Given the description of an element on the screen output the (x, y) to click on. 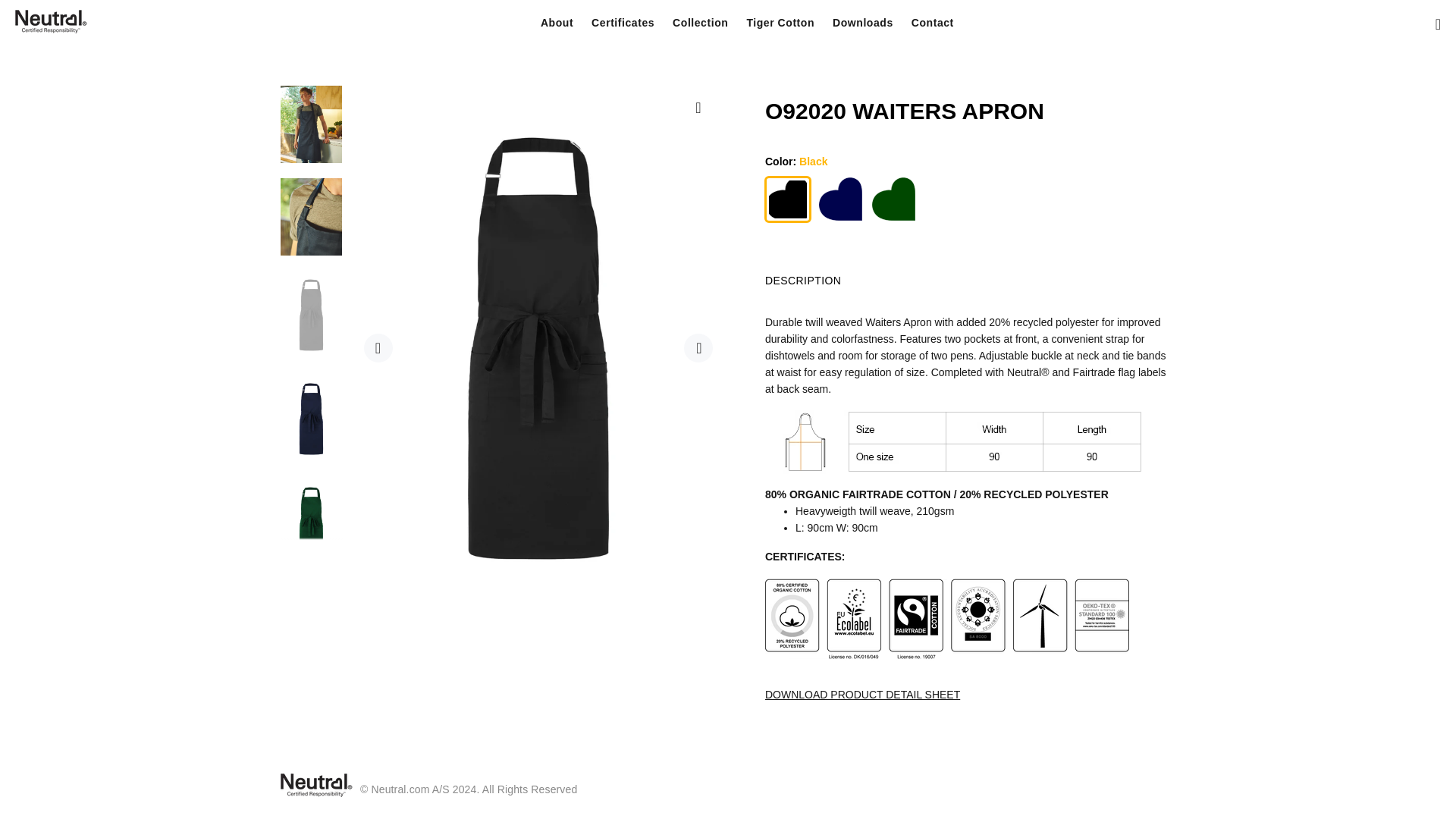
Contact (927, 23)
Downloads (863, 23)
Certificates (622, 23)
Tiger Cotton (780, 23)
About (556, 23)
Collection (699, 23)
